Given the description of an element on the screen output the (x, y) to click on. 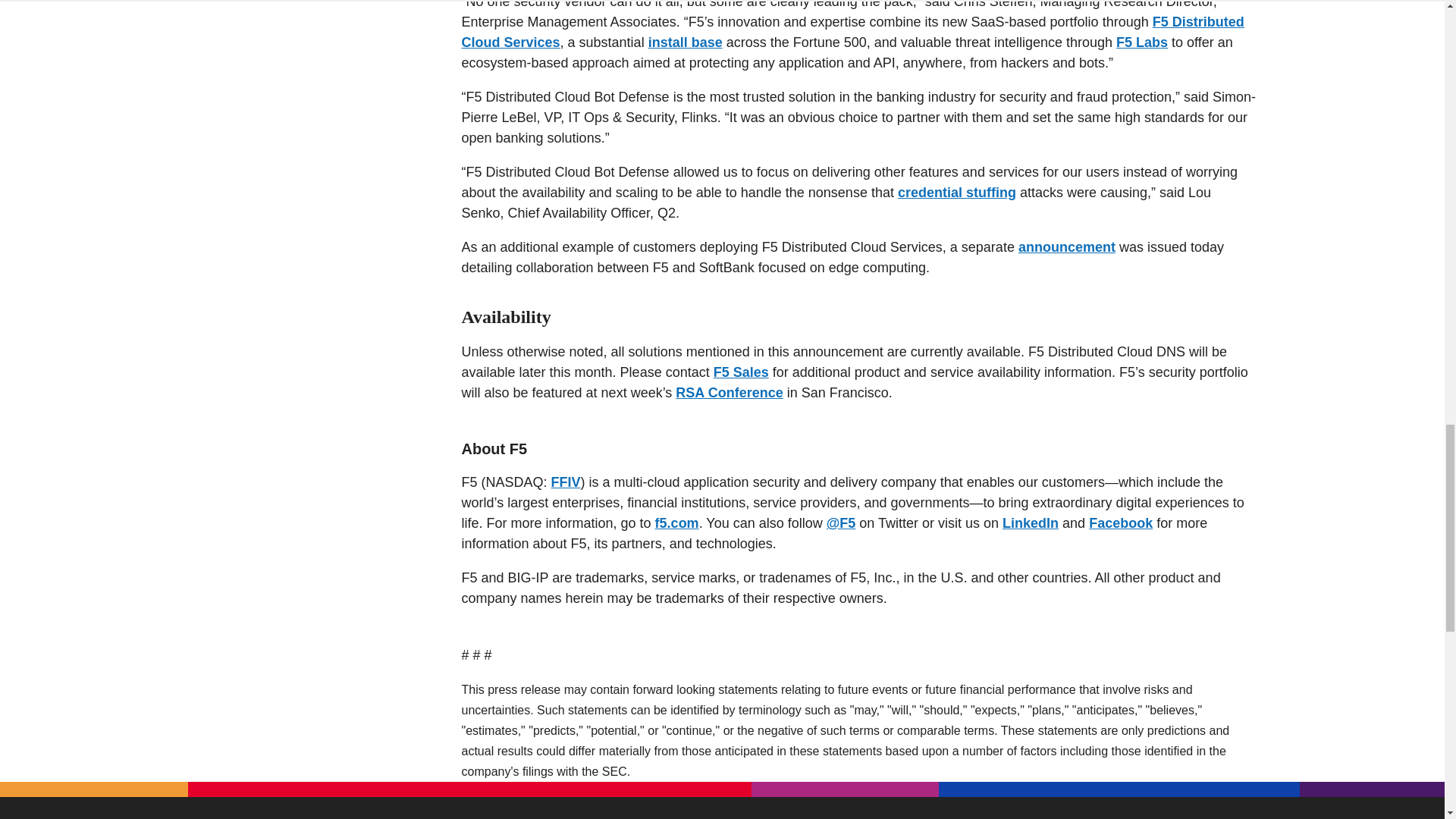
install base (684, 42)
F5 Labs (1141, 42)
credential stuffing (957, 192)
F5 Distributed Cloud Services (852, 31)
